Given the description of an element on the screen output the (x, y) to click on. 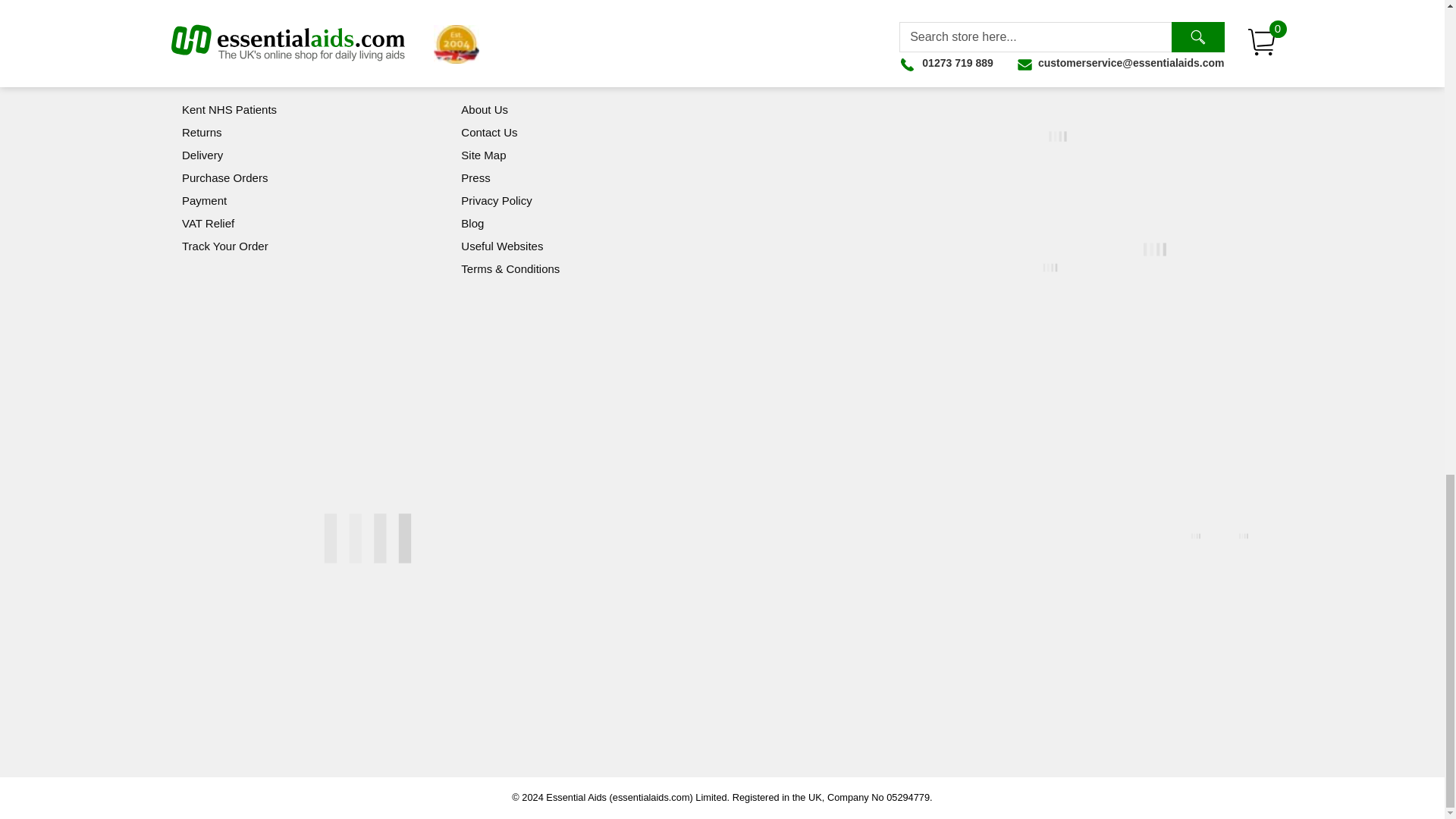
Payment (204, 200)
Kent NHS Patients (229, 109)
Delivery (202, 154)
Purchase Orders (224, 177)
Returns (202, 132)
